Given the description of an element on the screen output the (x, y) to click on. 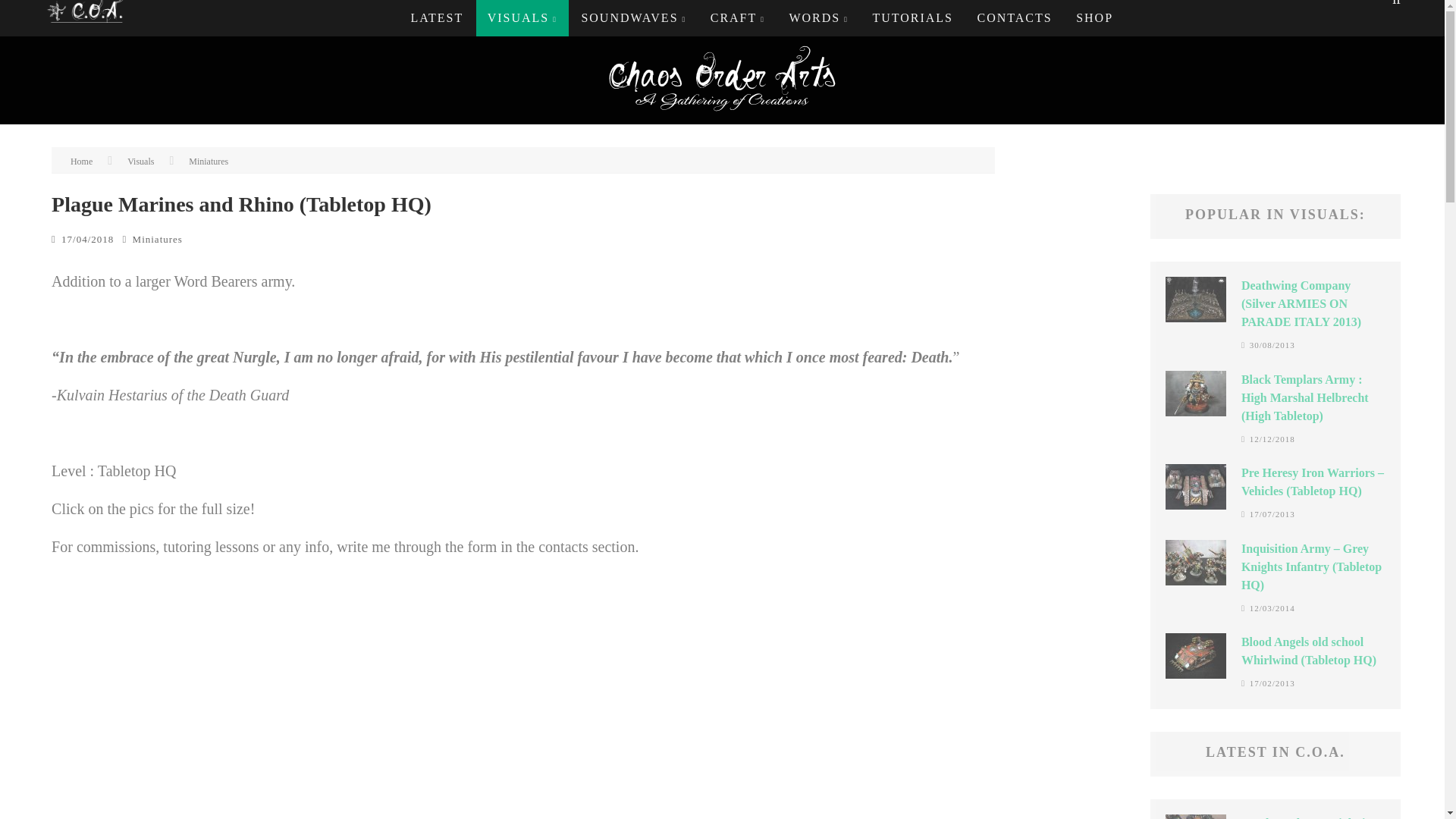
View all posts in Visuals (141, 161)
View all posts in Miniatures (208, 161)
LATEST (436, 18)
VISUALS (522, 18)
View all posts in Miniatures (157, 238)
